Given the description of an element on the screen output the (x, y) to click on. 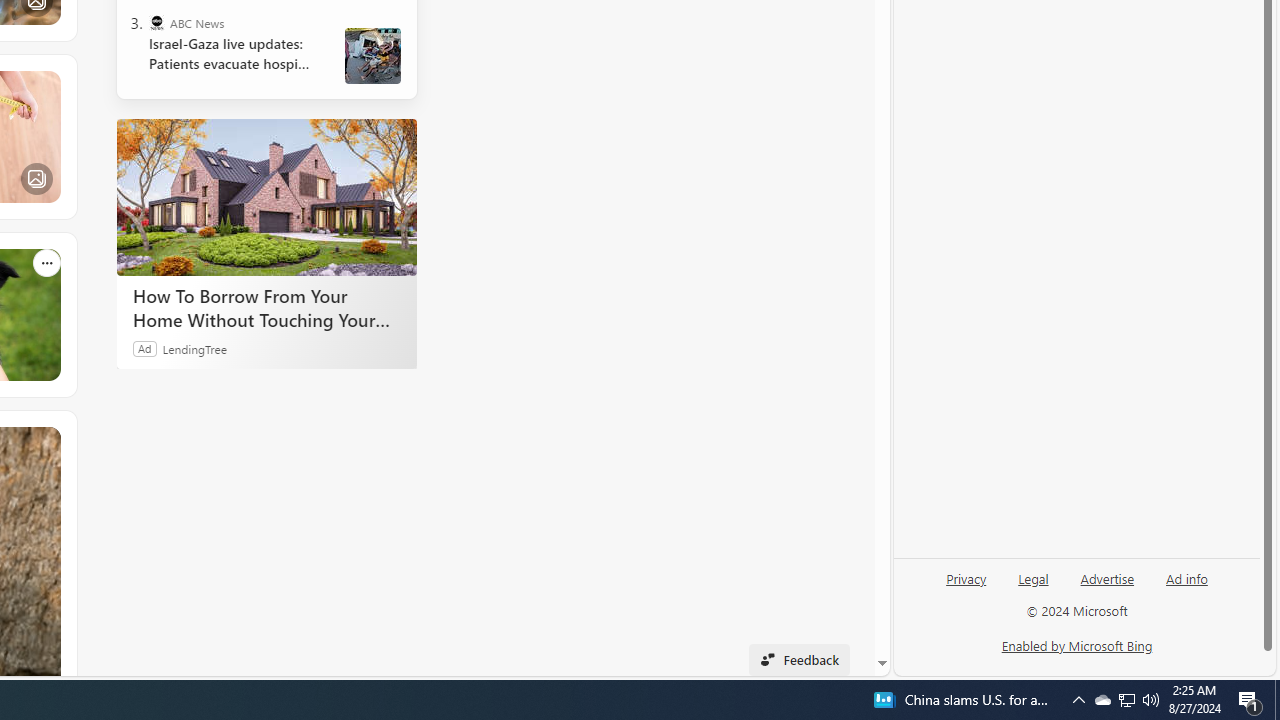
ABC News (156, 22)
Legal (1033, 586)
LendingTree (194, 348)
